Given the description of an element on the screen output the (x, y) to click on. 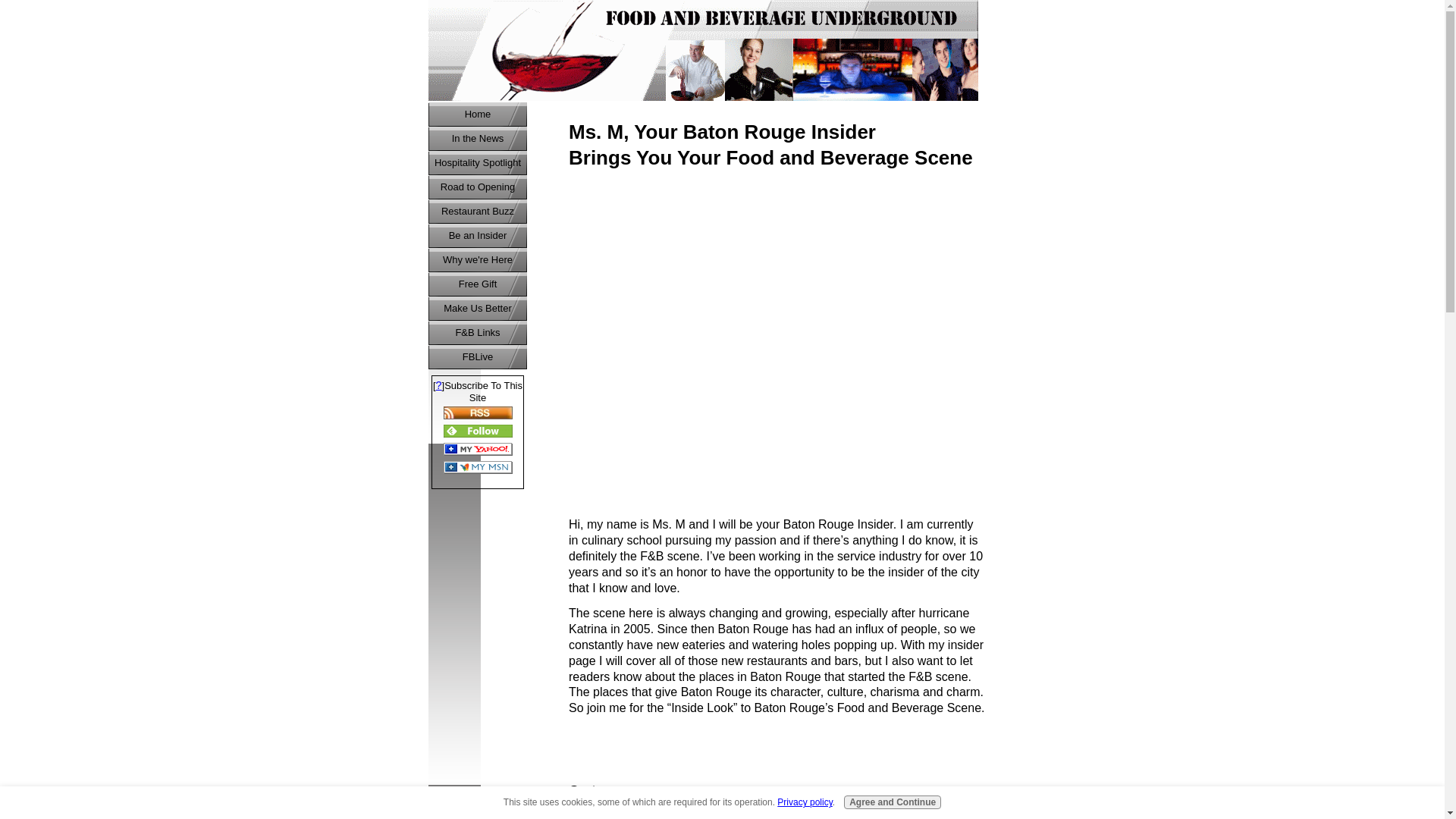
Restaurant Buzz (477, 211)
Hospitality Spotlight (477, 162)
Privacy policy (804, 801)
FBLive (477, 356)
Be an Insider (477, 235)
Road to Opening (477, 187)
Advertisement (644, 419)
? (438, 385)
Why we're Here (477, 259)
Make Us Better (477, 308)
In the News (477, 138)
Agree and Continue (892, 802)
Free Gift (477, 283)
Home (477, 114)
